Given the description of an element on the screen output the (x, y) to click on. 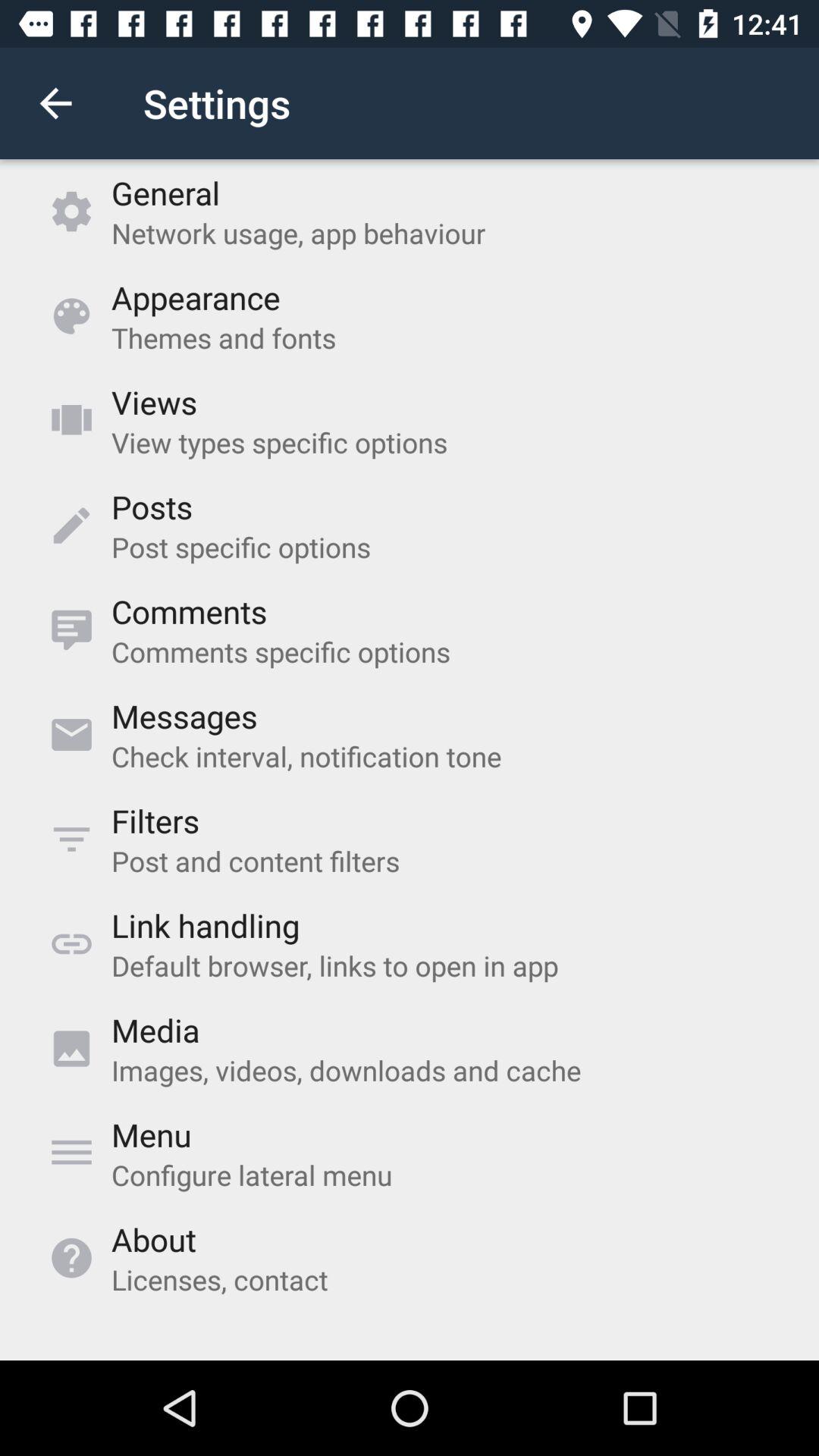
turn off the item above network usage app (165, 192)
